Given the description of an element on the screen output the (x, y) to click on. 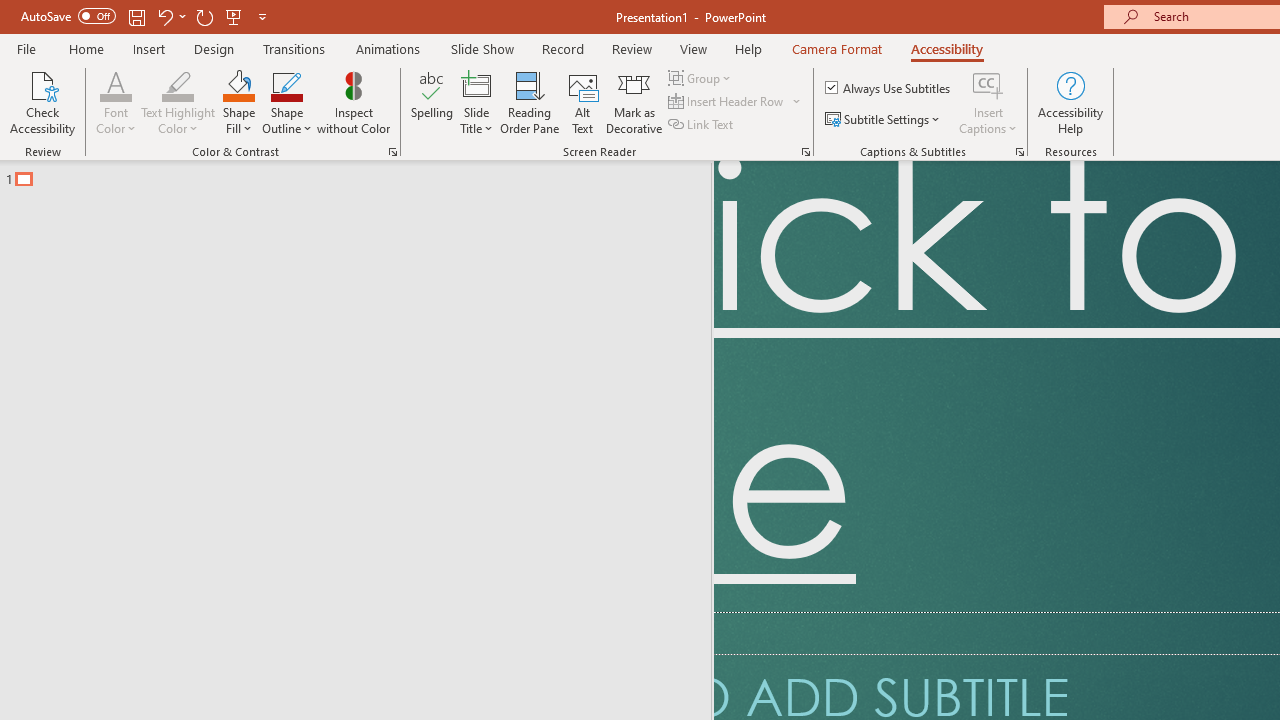
Color & Contrast (392, 151)
Inspect without Color (353, 102)
